Given the description of an element on the screen output the (x, y) to click on. 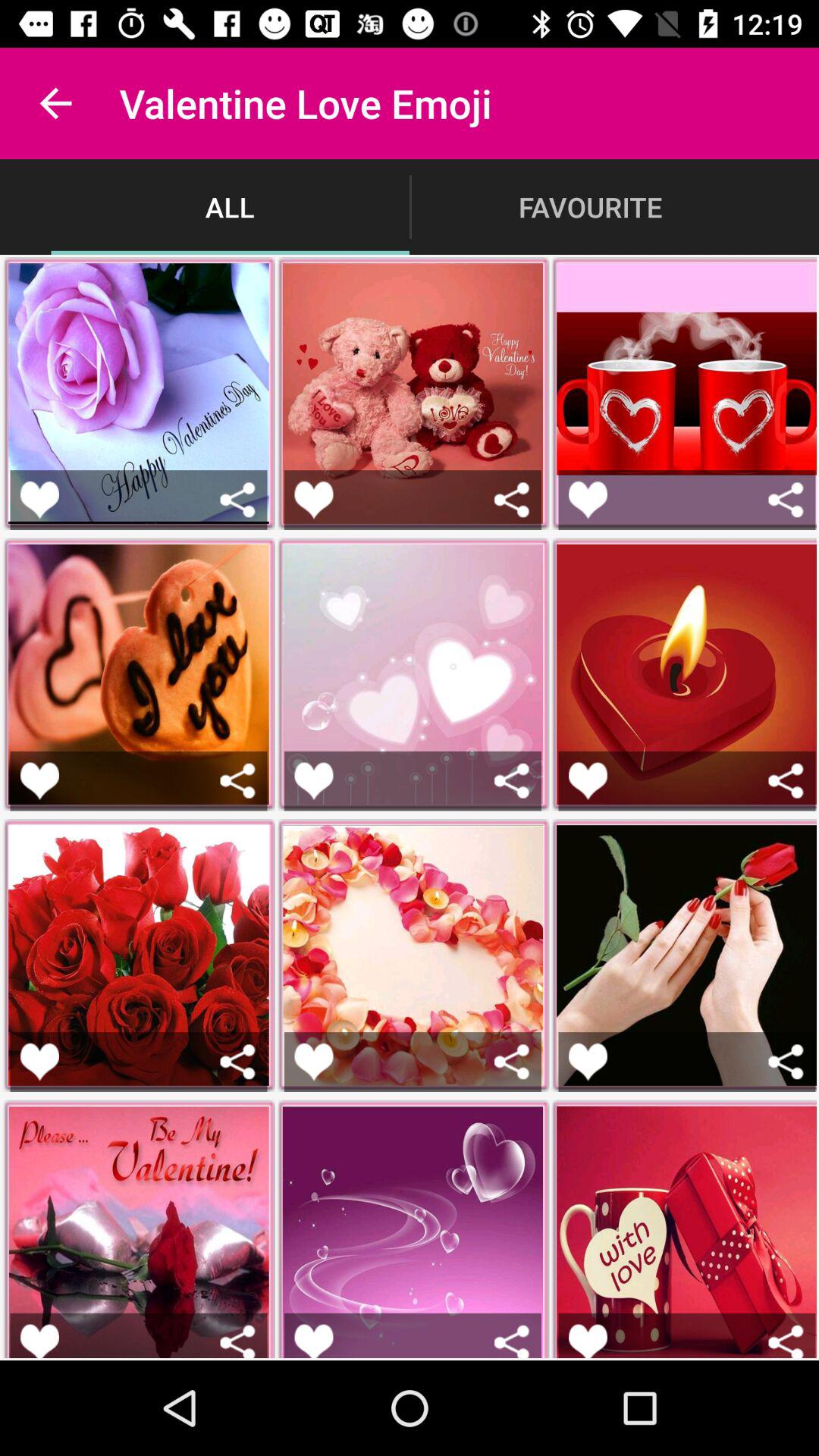
heart symbol (39, 1340)
